Given the description of an element on the screen output the (x, y) to click on. 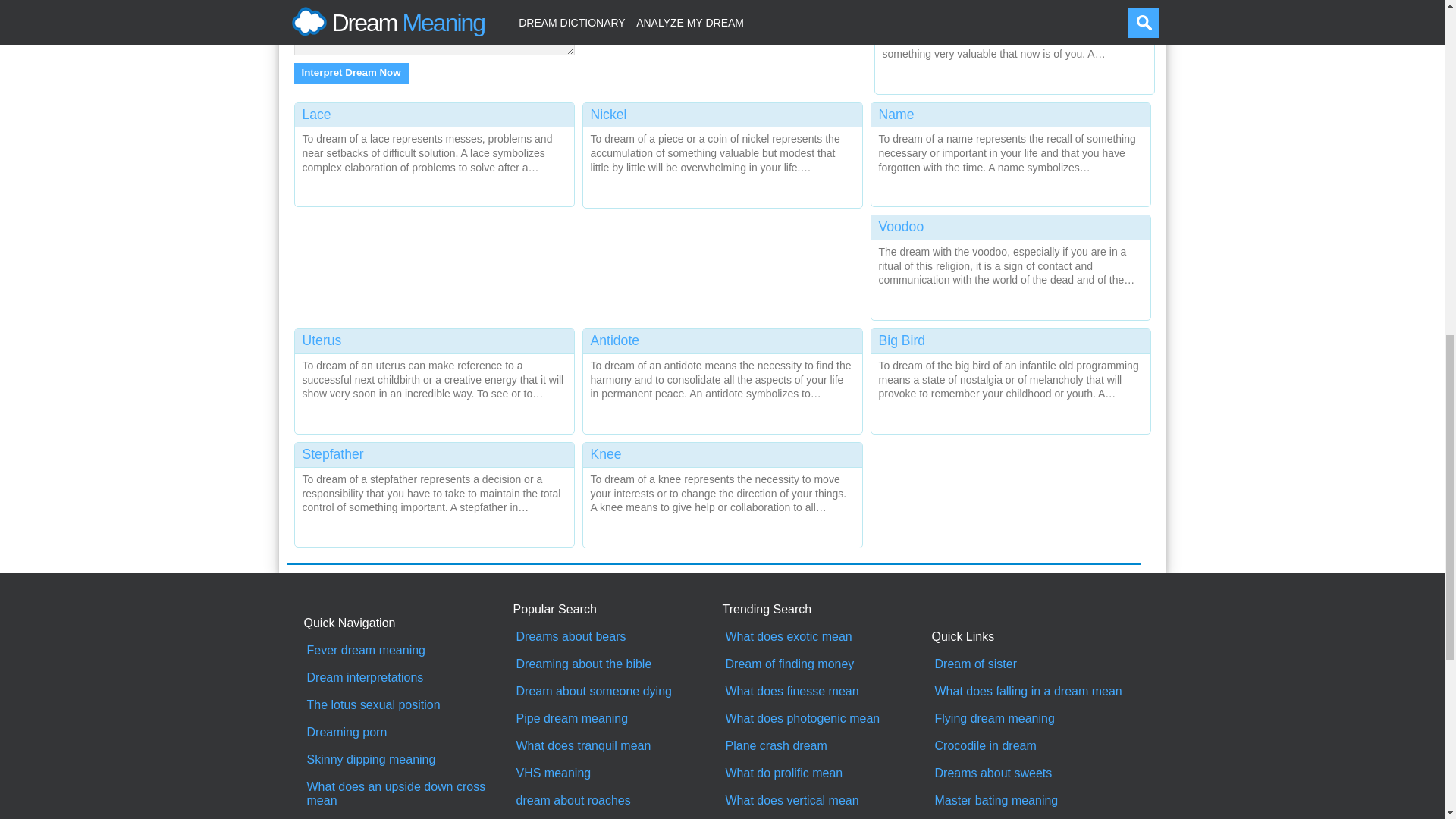
Pipe dream meaning (617, 718)
Placenta Dream Meaning (1010, 377)
Dreaming about the bible (617, 663)
Whiskers Dream Meaning (721, 151)
Hours Dream Meaning (1010, 263)
Fever dream meaning (407, 650)
dream about roaches (617, 800)
Girdle Dream Meaning (1010, 151)
Dream interpretations (407, 677)
What does tranquil mean (617, 745)
Newborn Dream Meaning (721, 377)
Garuda Dream Meaning (433, 491)
Sandals Dream Meaning (433, 151)
Repossession Dream Meaning (433, 377)
Interpret Dream Now (351, 73)
